Given the description of an element on the screen output the (x, y) to click on. 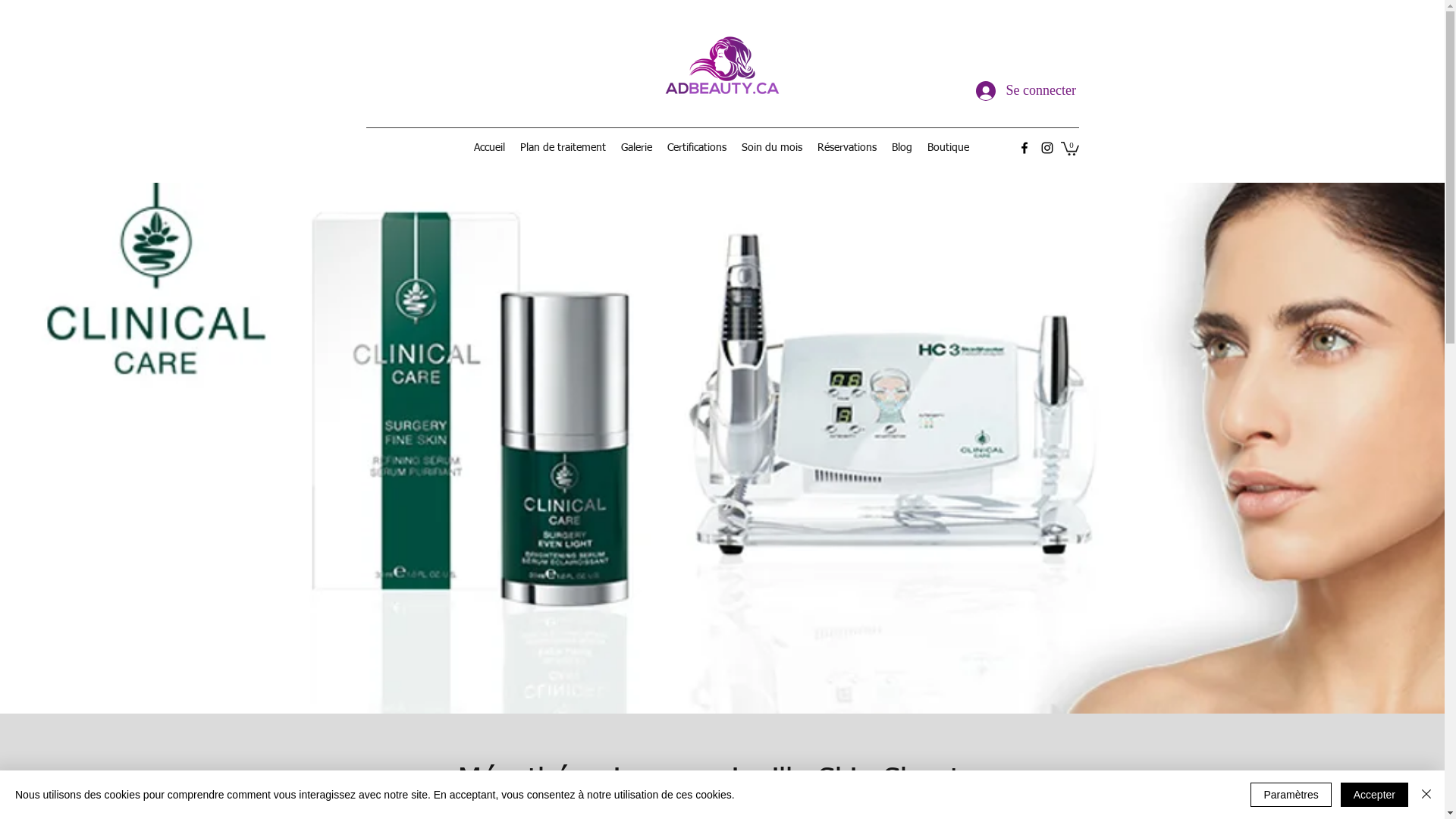
0 Element type: text (1069, 147)
three best rated 2023 Element type: hover (1172, 87)
Embedded Content Element type: hover (259, 106)
Certifications Element type: text (696, 147)
Soin du mois Element type: text (771, 147)
Se connecter Element type: text (1009, 90)
Accepter Element type: text (1374, 794)
Boutique Element type: text (947, 147)
Plan de traitement Element type: text (562, 147)
Blog Element type: text (901, 147)
Accueil Element type: text (489, 147)
